Given the description of an element on the screen output the (x, y) to click on. 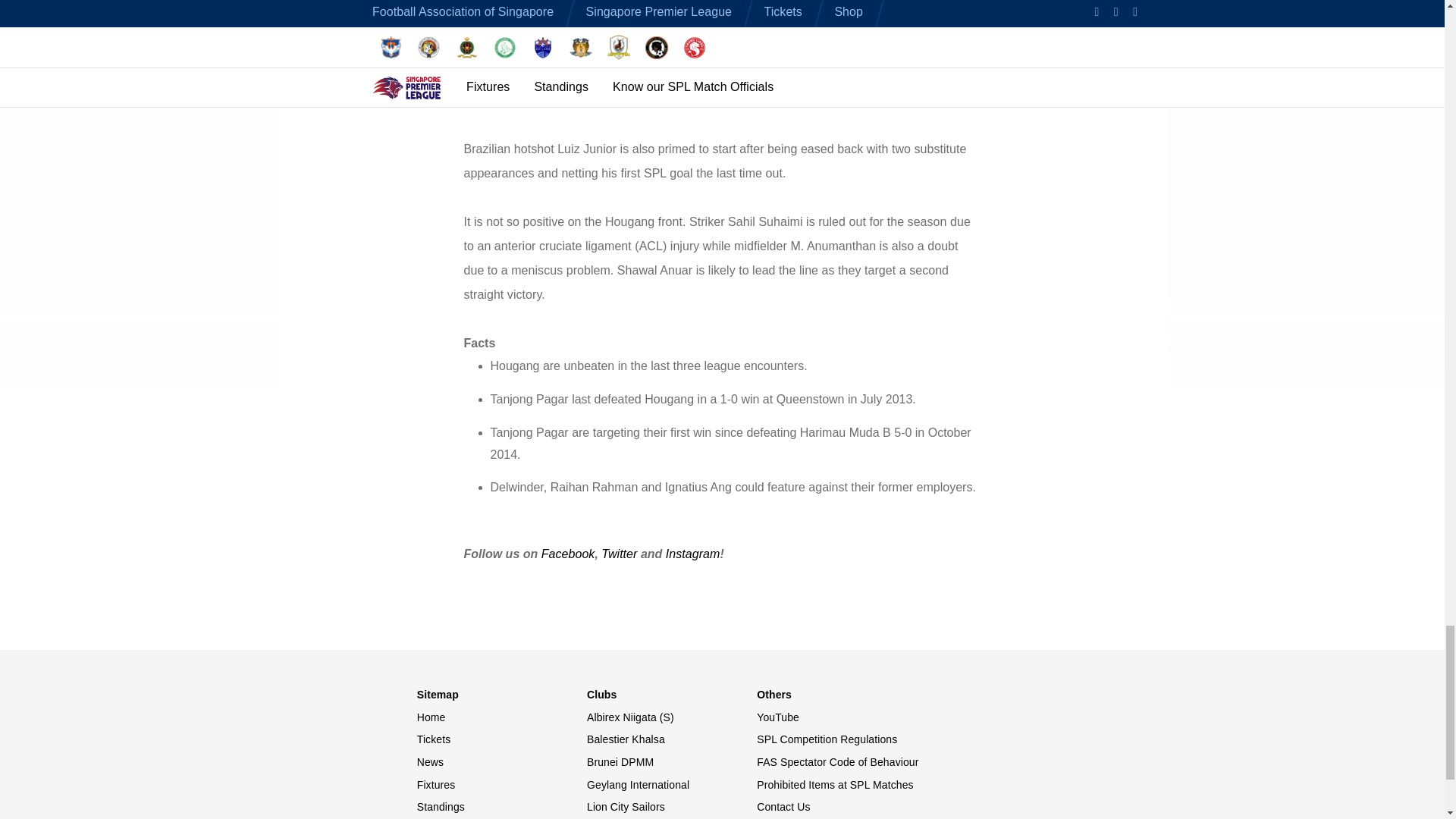
Fixtures (501, 785)
Sitemap (501, 694)
Home (501, 717)
Clubs (671, 694)
News (501, 762)
Brunei DPMM (671, 762)
Standings (501, 807)
Instagram (692, 553)
Balestier Khalsa (671, 739)
Facebook (568, 553)
Tickets (501, 739)
Twitter (619, 553)
